Given the description of an element on the screen output the (x, y) to click on. 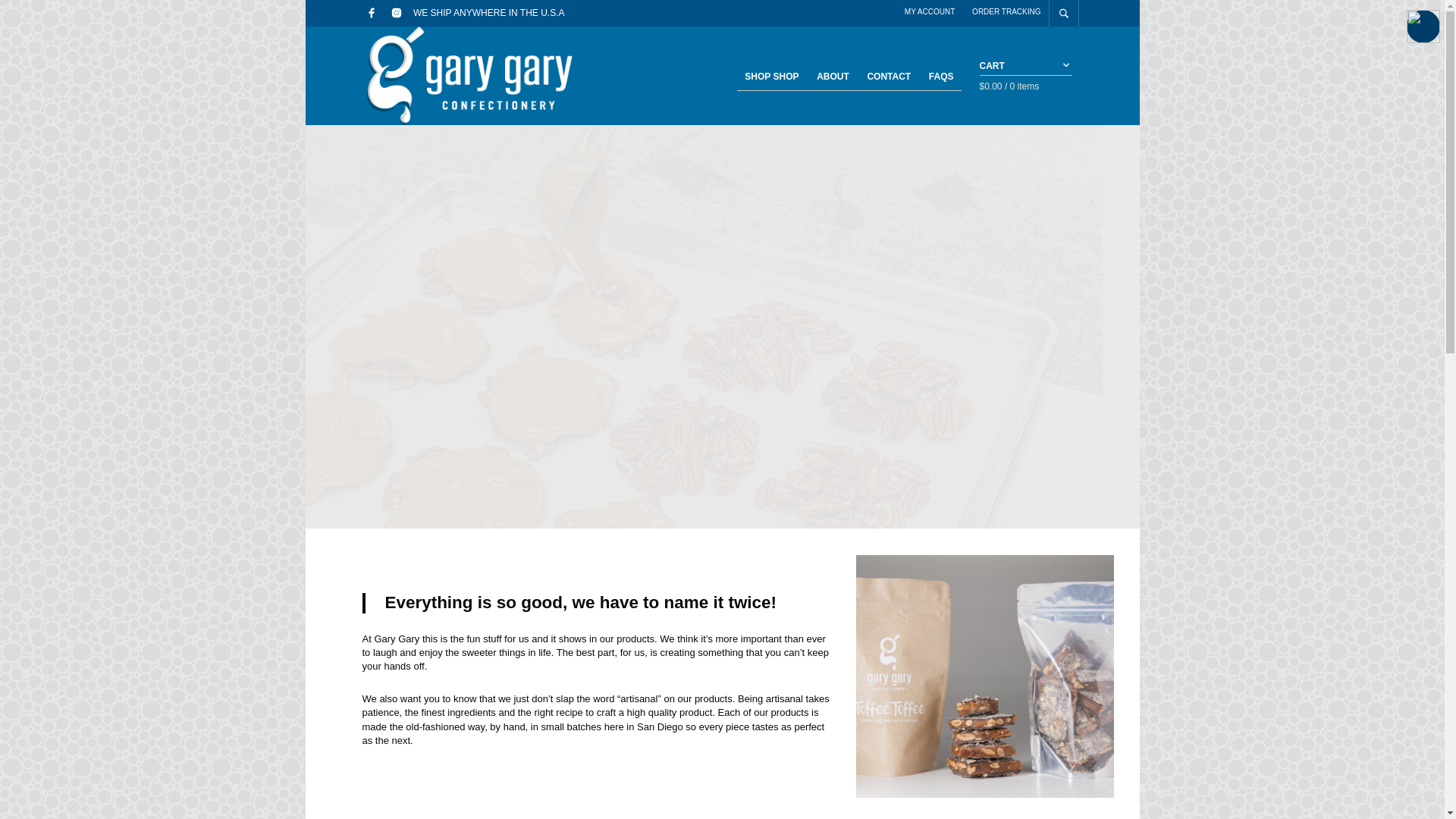
ORDER TRACKING (1006, 11)
SHOP SHOP (771, 76)
Accessibility Menu (1422, 26)
MY ACCOUNT (929, 11)
ABOUT (833, 76)
FAQS (940, 76)
CONTACT (888, 76)
